Given the description of an element on the screen output the (x, y) to click on. 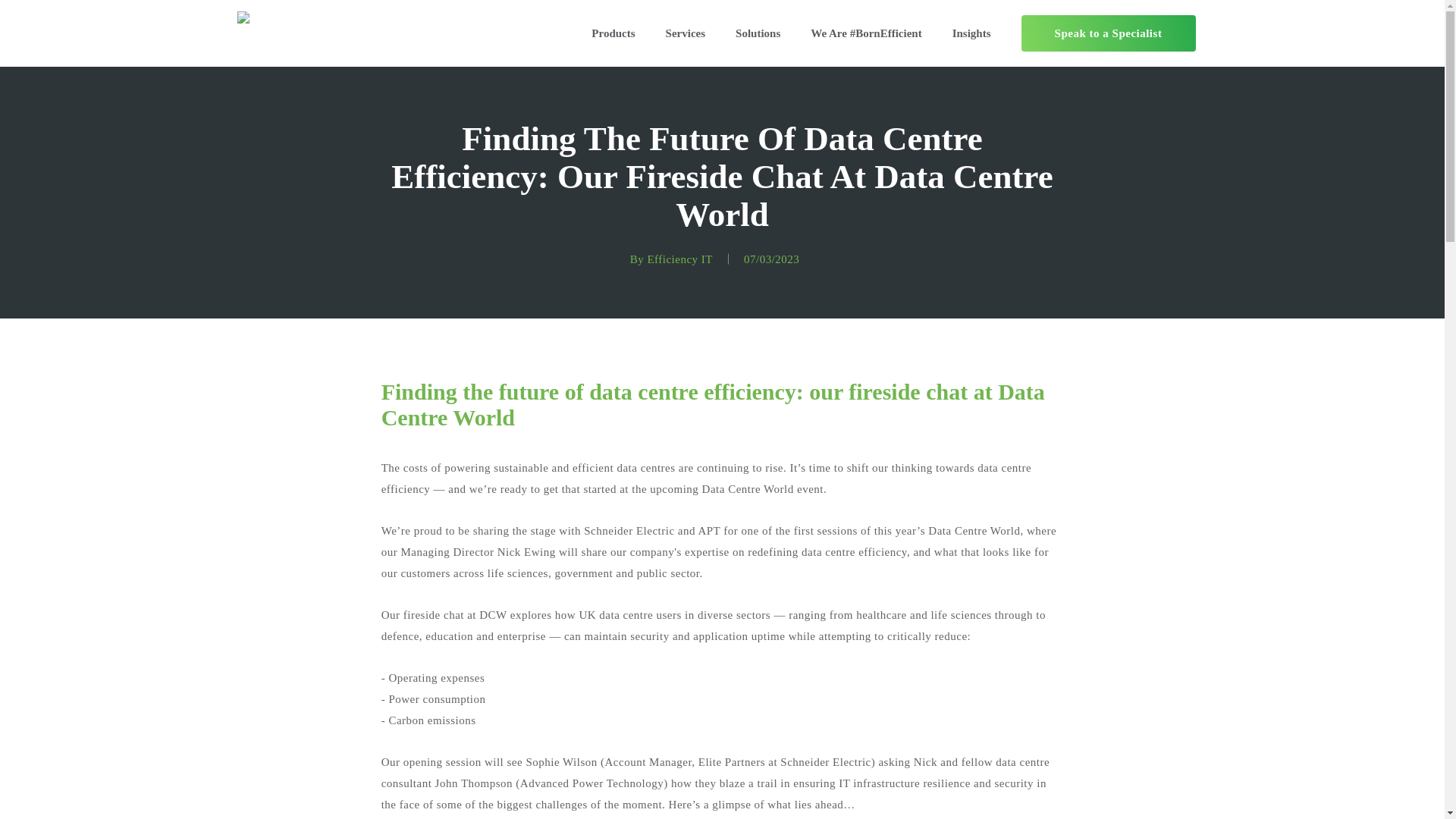
Posts by Efficiency IT (679, 259)
Insights (971, 33)
Products (612, 33)
Speak to a Specialist (1107, 33)
Services (684, 33)
Solutions (757, 33)
Efficiency IT (679, 259)
